Given the description of an element on the screen output the (x, y) to click on. 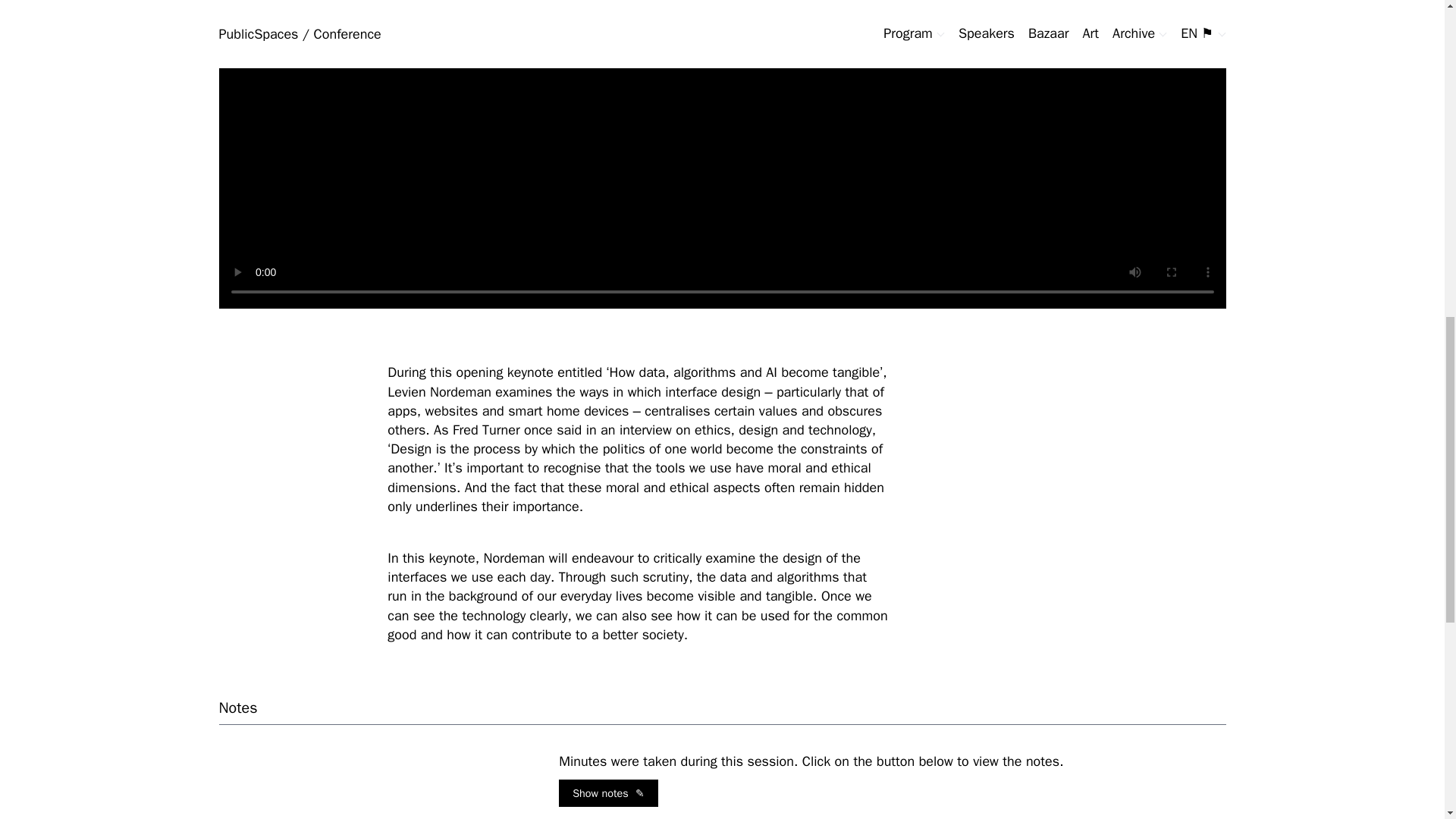
Show notes (608, 792)
